Given the description of an element on the screen output the (x, y) to click on. 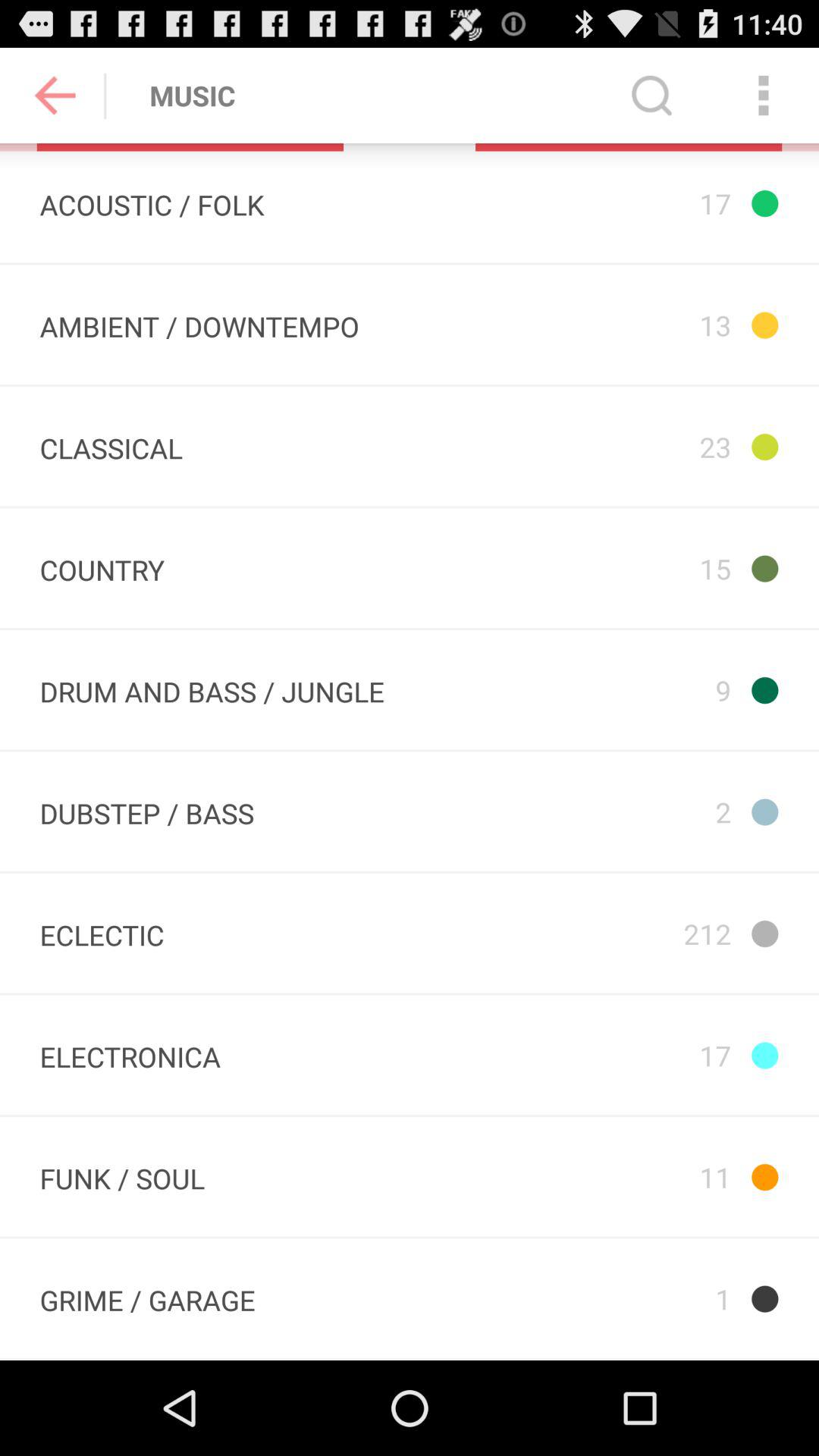
turn on the item below the electronica (122, 1176)
